Given the description of an element on the screen output the (x, y) to click on. 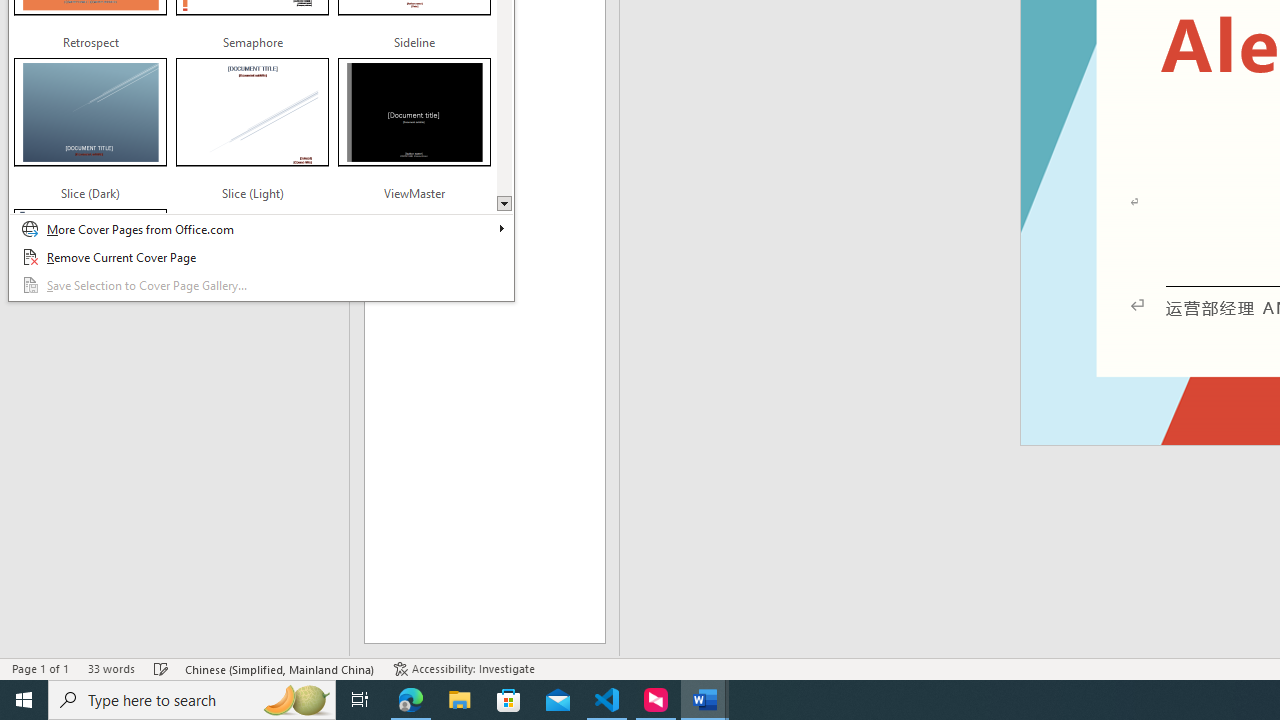
Microsoft Edge - 1 running window (411, 699)
Spelling and Grammar Check Checking (161, 668)
Task View (359, 699)
Language Chinese (Simplified, Mainland China) (279, 668)
Search highlights icon opens search home window (295, 699)
Microsoft Store (509, 699)
Accessibility Checker Accessibility: Investigate (464, 668)
File Explorer (460, 699)
Word - 2 running windows (704, 699)
Visual Studio Code - 1 running window (607, 699)
Start (24, 699)
Page Number Page 1 of 1 (39, 668)
